Given the description of an element on the screen output the (x, y) to click on. 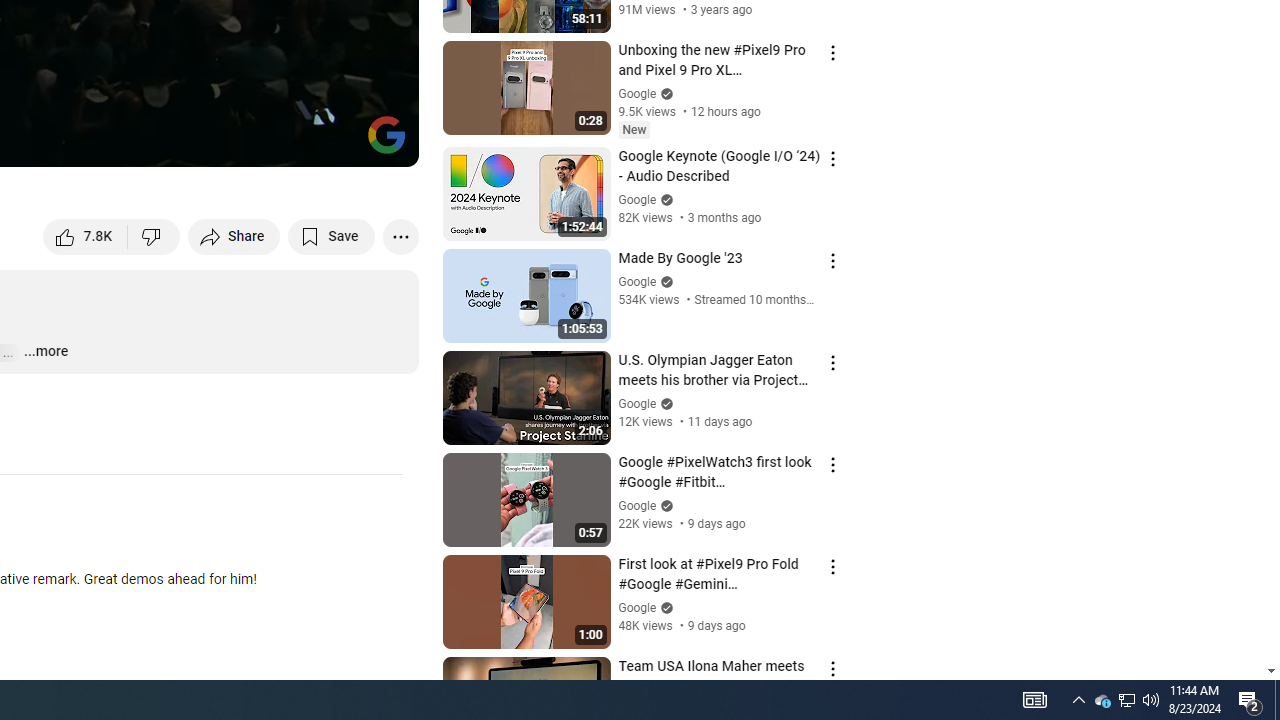
Settings (237, 142)
Theater mode (t) (333, 142)
...more (45, 352)
Autoplay is on (141, 142)
More actions (399, 236)
Miniplayer (i) (286, 142)
Full screen (f) (382, 142)
Dislike this video (154, 236)
Verified (664, 606)
Action menu (832, 668)
